Given the description of an element on the screen output the (x, y) to click on. 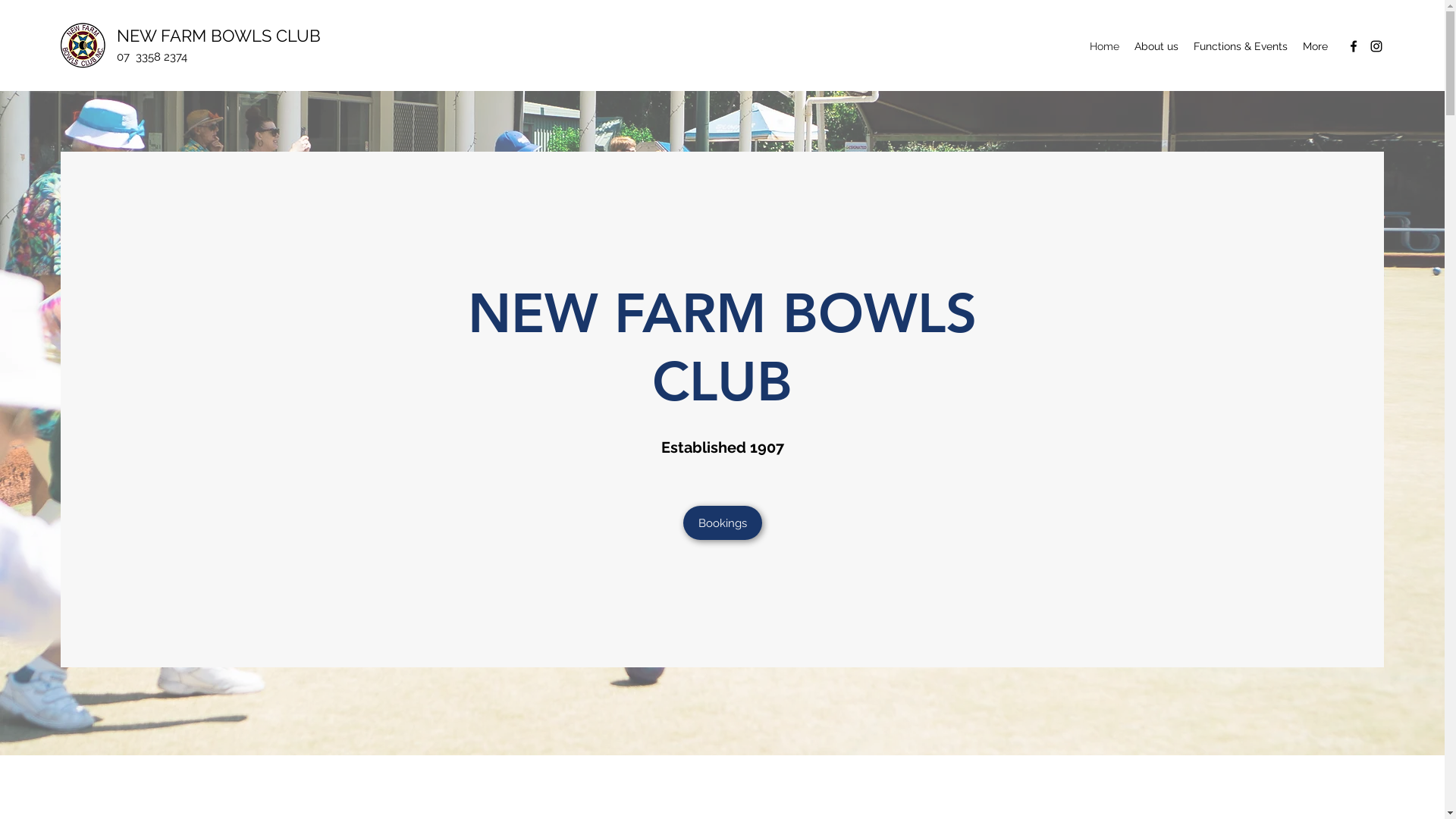
About us Element type: text (1156, 45)
Home Element type: text (1104, 45)
NEW FARM BOWLS CLUB Element type: text (218, 35)
Bookings Element type: text (721, 522)
Functions & Events Element type: text (1240, 45)
